Given the description of an element on the screen output the (x, y) to click on. 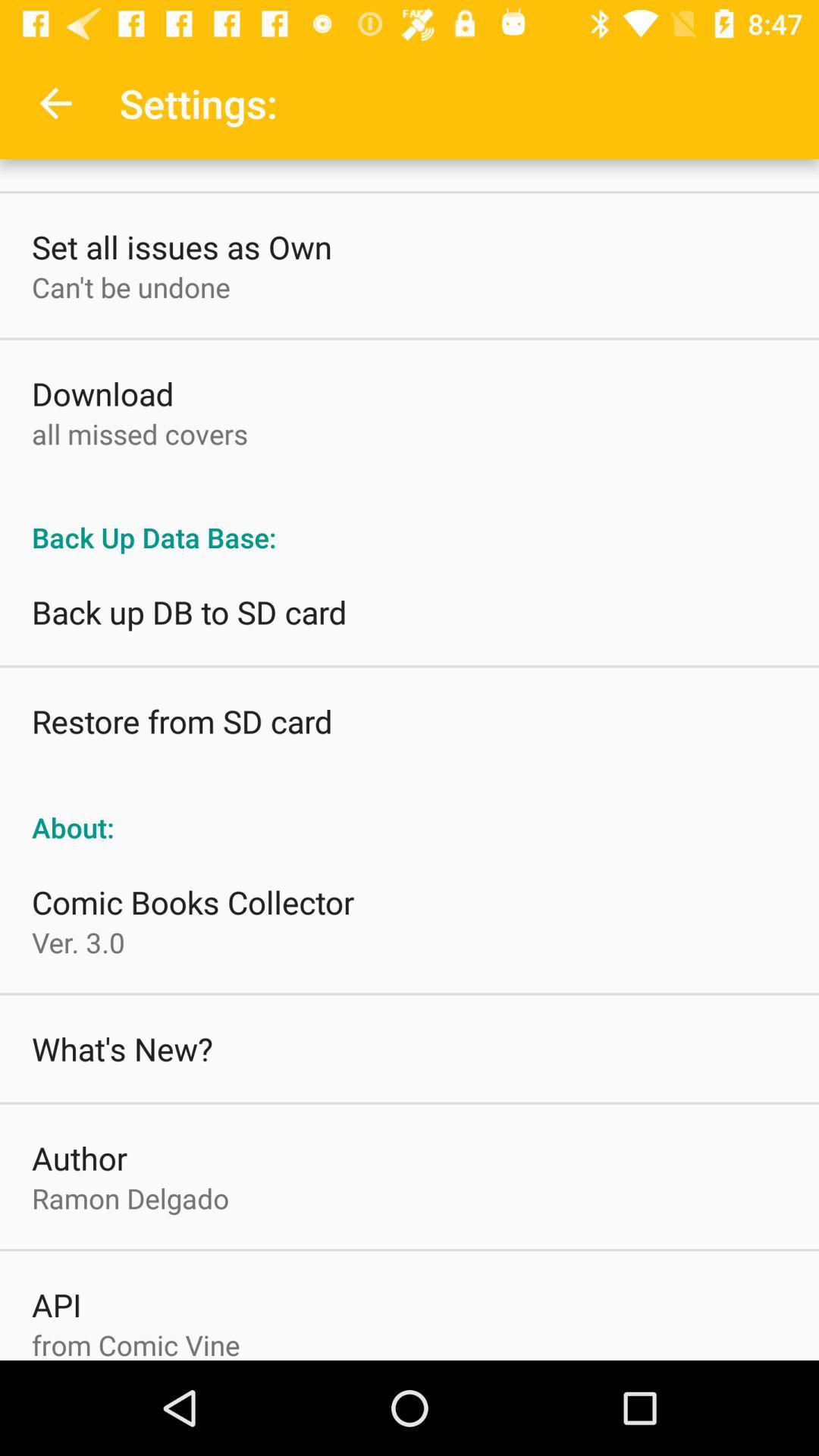
click the item below author item (130, 1198)
